Given the description of an element on the screen output the (x, y) to click on. 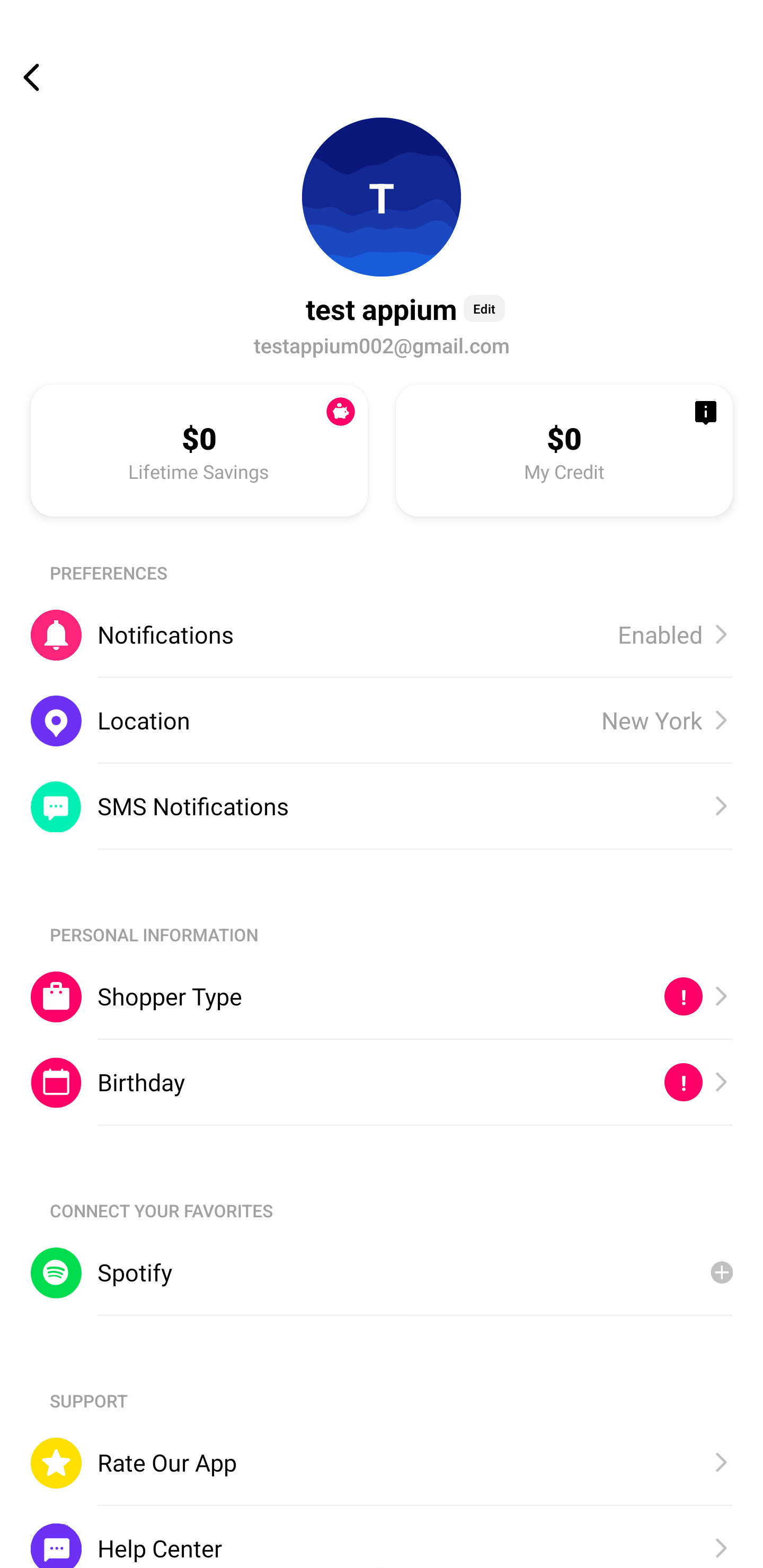
T (381, 196)
Edit (484, 307)
$0, Lifetime Savings $0 Lifetime Savings (198, 449)
$0, My Credit $0 My Credit (563, 449)
Location, New York Location New York (381, 720)
SMS Notifications,    SMS Notifications    (381, 806)
Shopper Type,   , ! Shopper Type    ! (381, 996)
Birthday,   , ! Birthday    ! (381, 1082)
Spotify,    Spotify    (381, 1272)
Rate Our App,    Rate Our App    (381, 1462)
Help Center,    Help Center    (381, 1536)
